Given the description of an element on the screen output the (x, y) to click on. 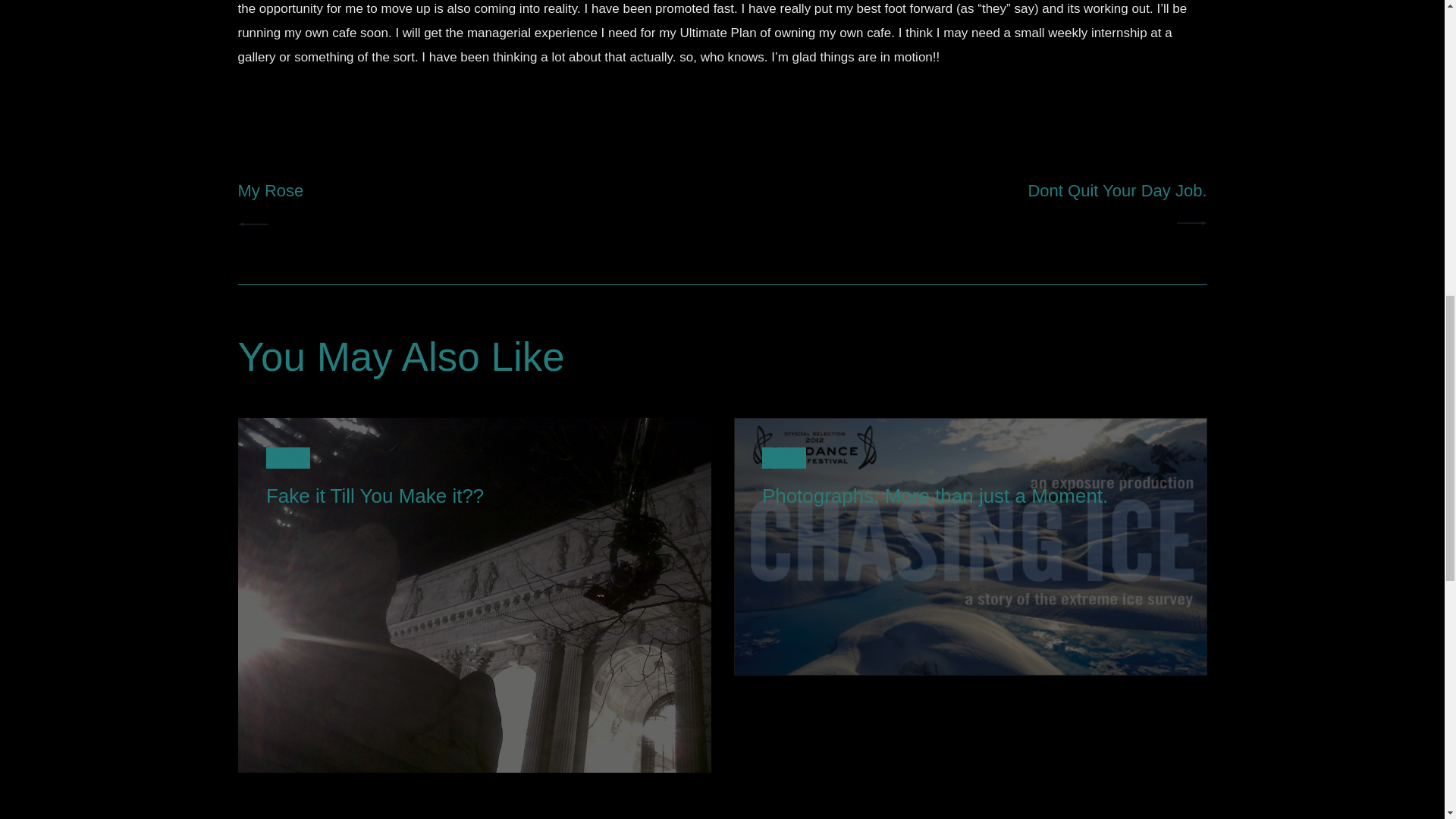
BLOG (474, 199)
Photographs: More than just a Moment. (288, 457)
Fake it Till You Make it?? (969, 495)
View all posts in Blog (474, 495)
BLOG (783, 457)
View all posts in Blog (970, 199)
